Given the description of an element on the screen output the (x, y) to click on. 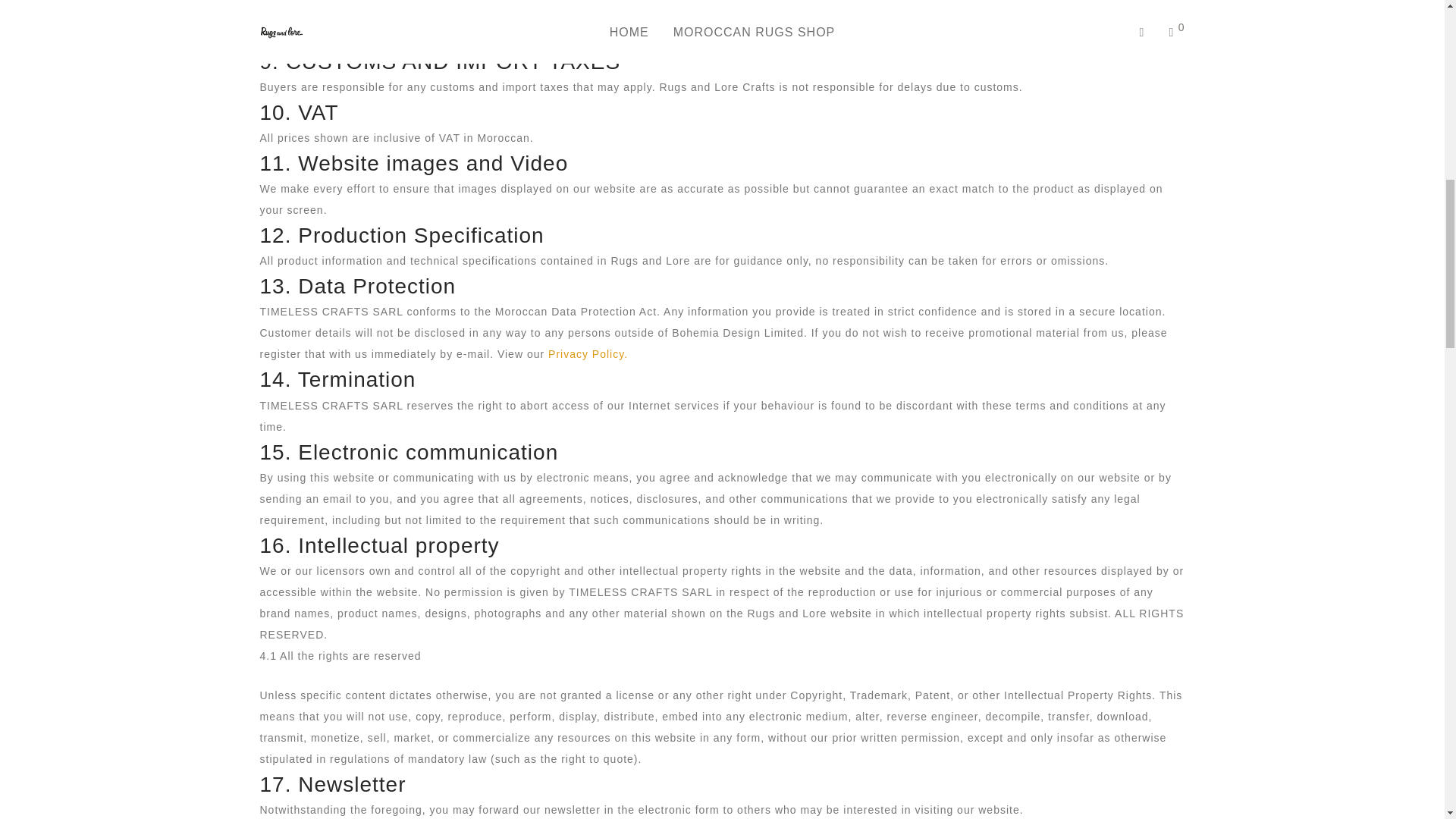
Privacy Policy (587, 354)
Privacy Policy. (587, 354)
